Given the description of an element on the screen output the (x, y) to click on. 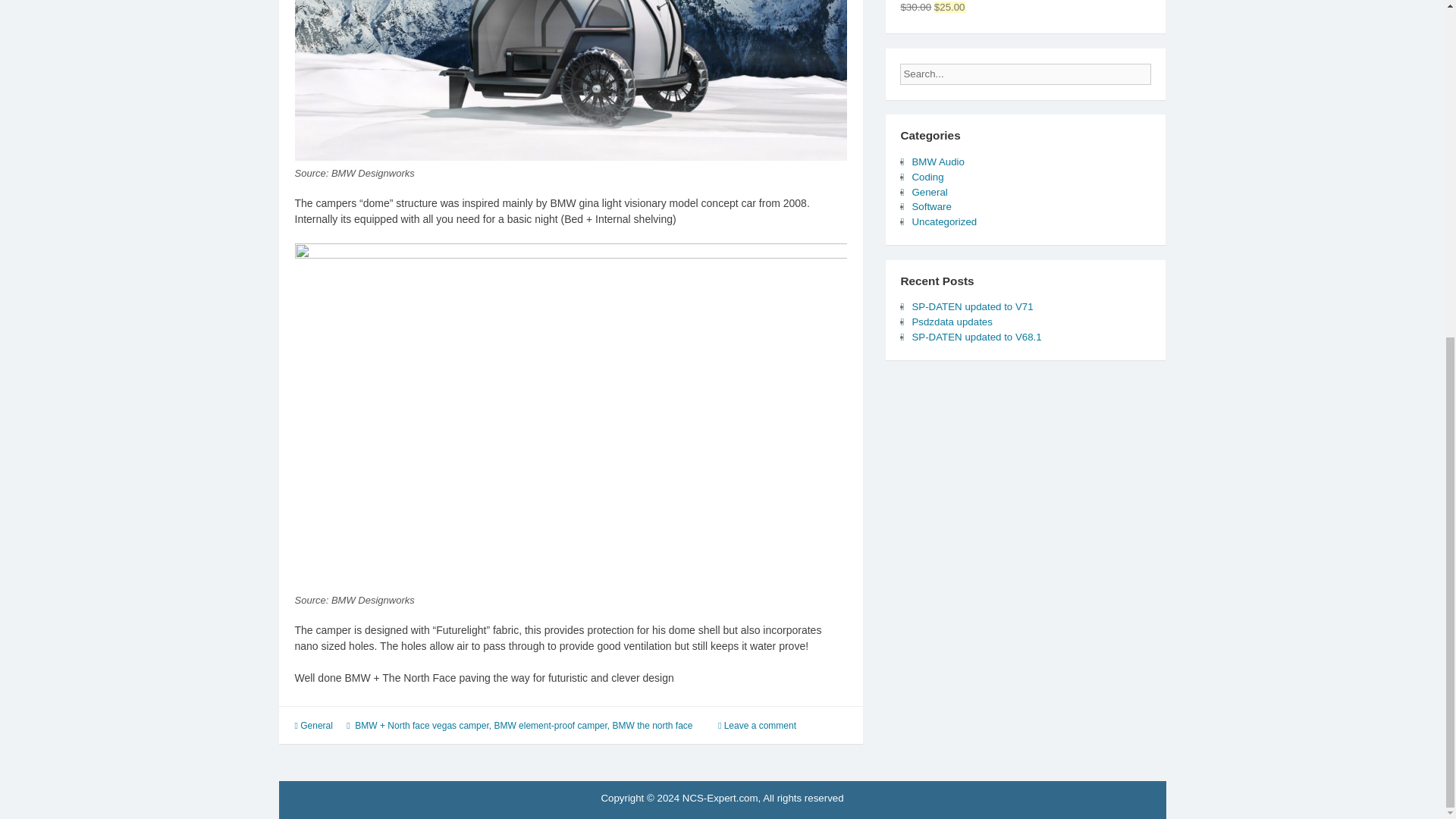
Coding (927, 176)
Psdzdata updates (951, 321)
General (316, 725)
Software (930, 206)
BMW Audio (937, 161)
BMW the north face (652, 725)
BMW element-proof camper (550, 725)
SP-DATEN updated to V68.1 (976, 337)
SP-DATEN updated to V71 (971, 306)
Uncategorized (943, 221)
